Given the description of an element on the screen output the (x, y) to click on. 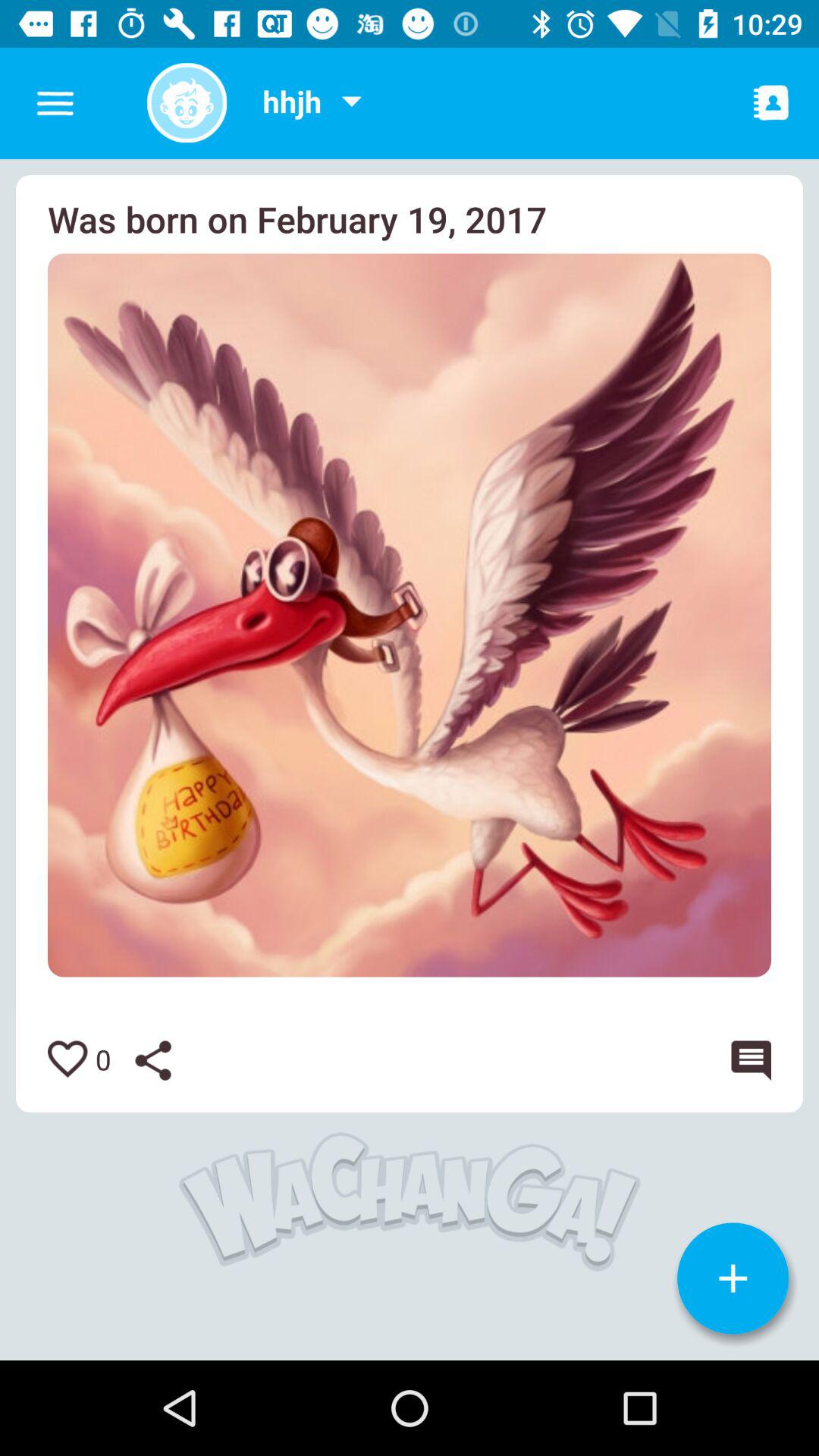
comment on photo (747, 1060)
